Given the description of an element on the screen output the (x, y) to click on. 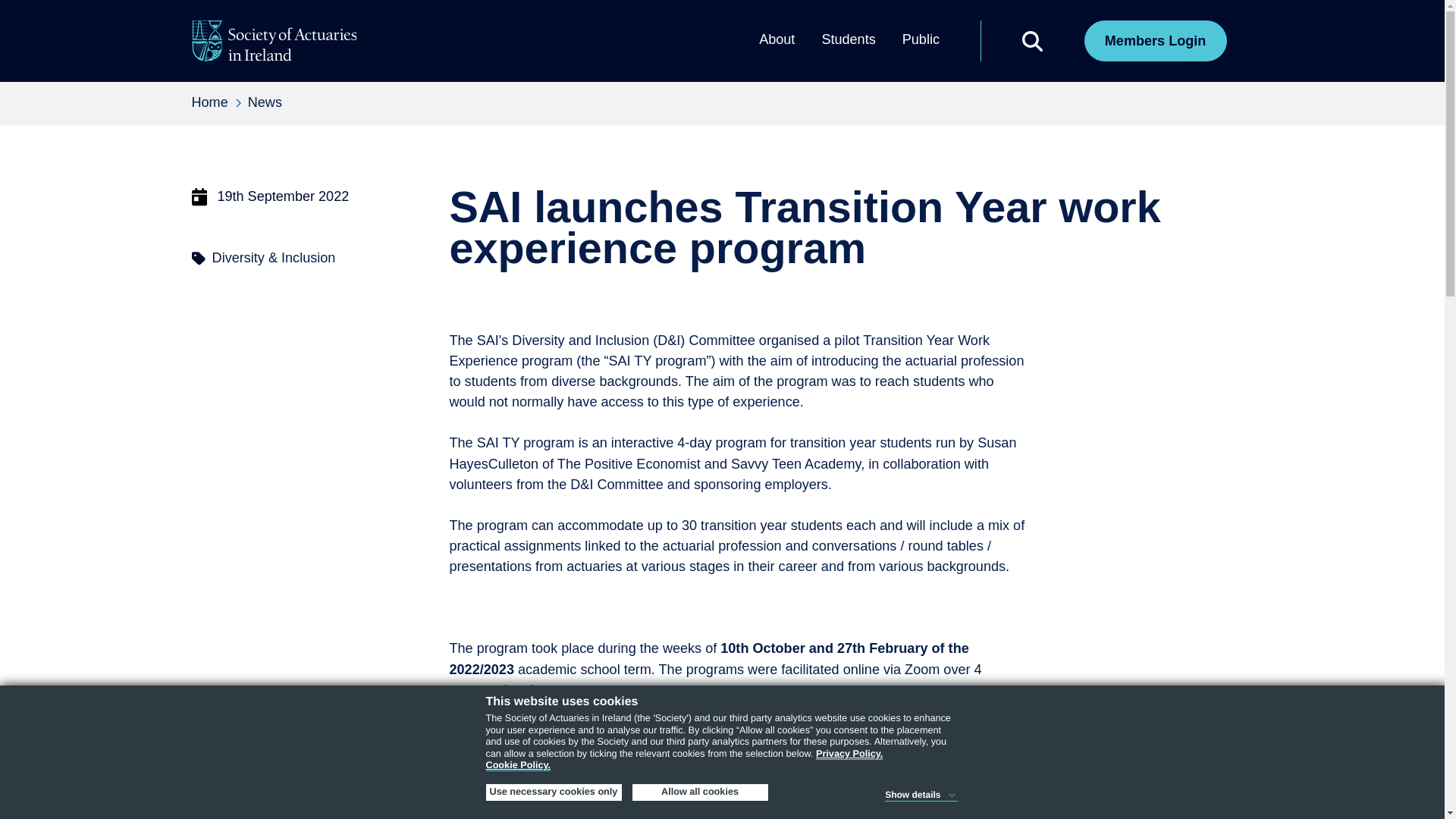
Allow all cookies (699, 791)
Privacy Policy. (848, 754)
Use necessary cookies only (552, 791)
Cookie Policy. (517, 765)
Show details (921, 792)
